Given the description of an element on the screen output the (x, y) to click on. 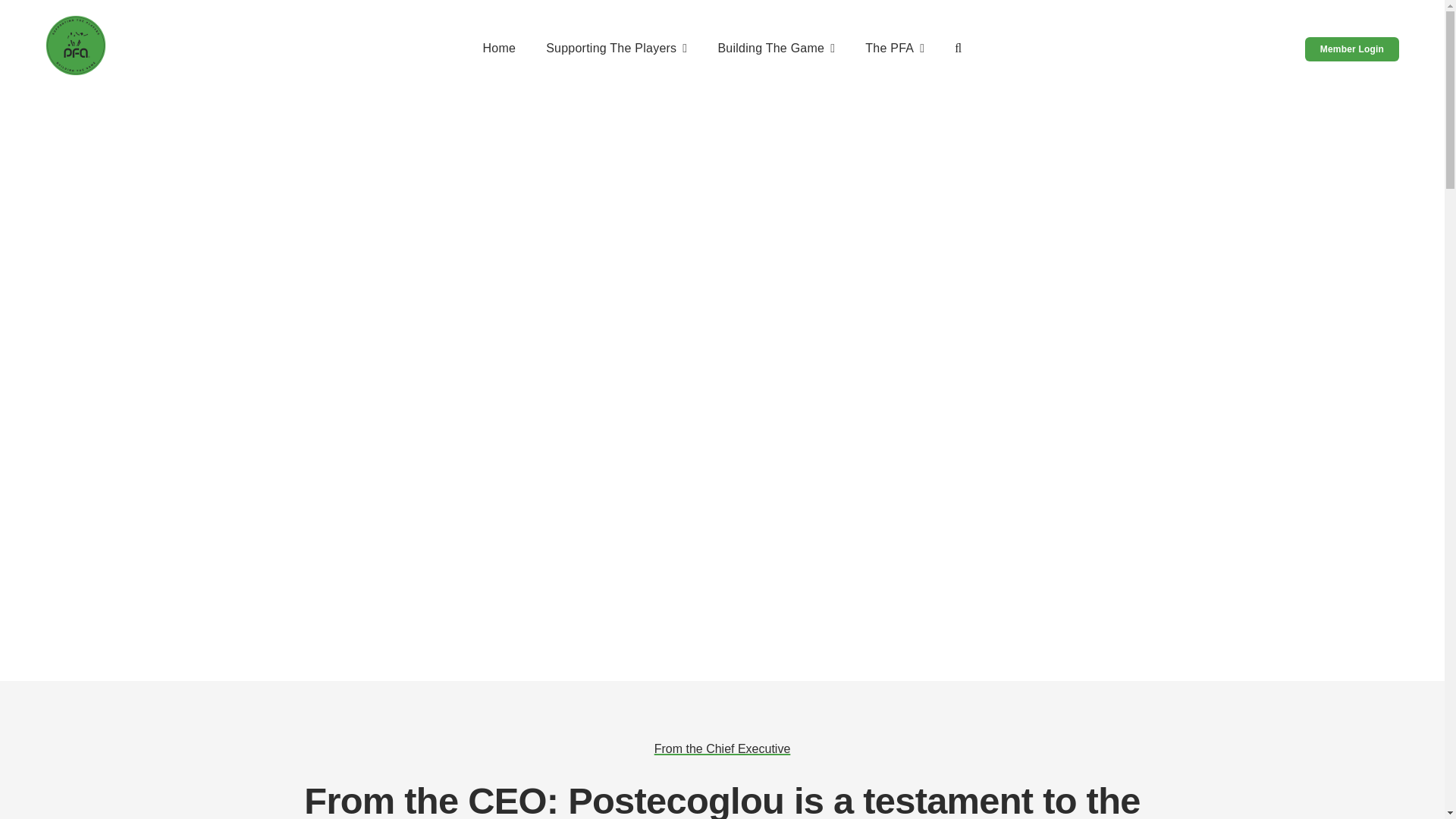
Home (498, 49)
Member Login (1351, 48)
The PFA (894, 49)
Supporting The Players (616, 49)
From the Chief Executive (721, 748)
From the Chief Executive (721, 748)
Building The Game (775, 49)
